Given the description of an element on the screen output the (x, y) to click on. 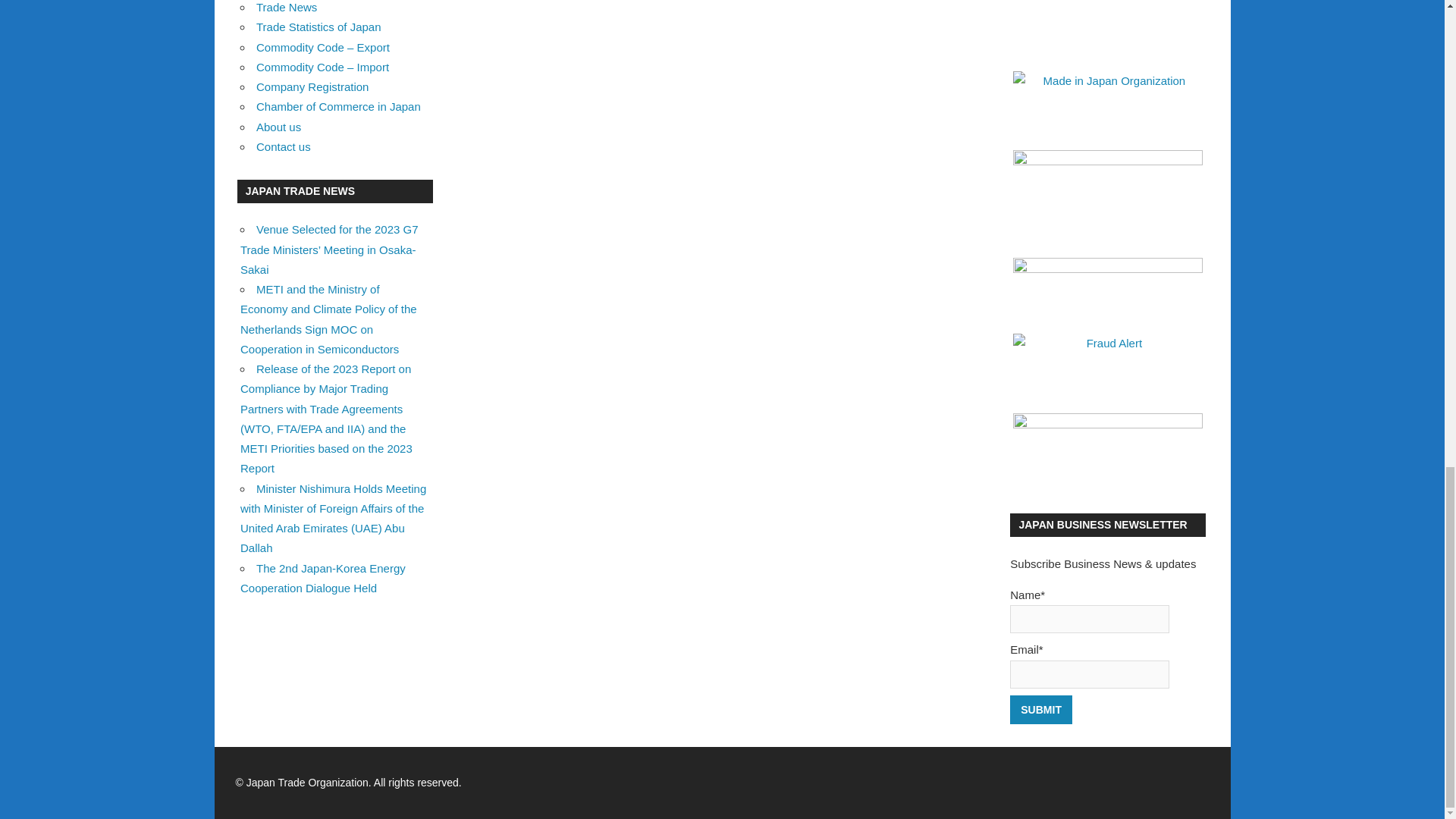
Trade News (286, 6)
Submit (1040, 709)
Fraud Alert (1107, 364)
Trade Statistics of Japan (318, 26)
